Given the description of an element on the screen output the (x, y) to click on. 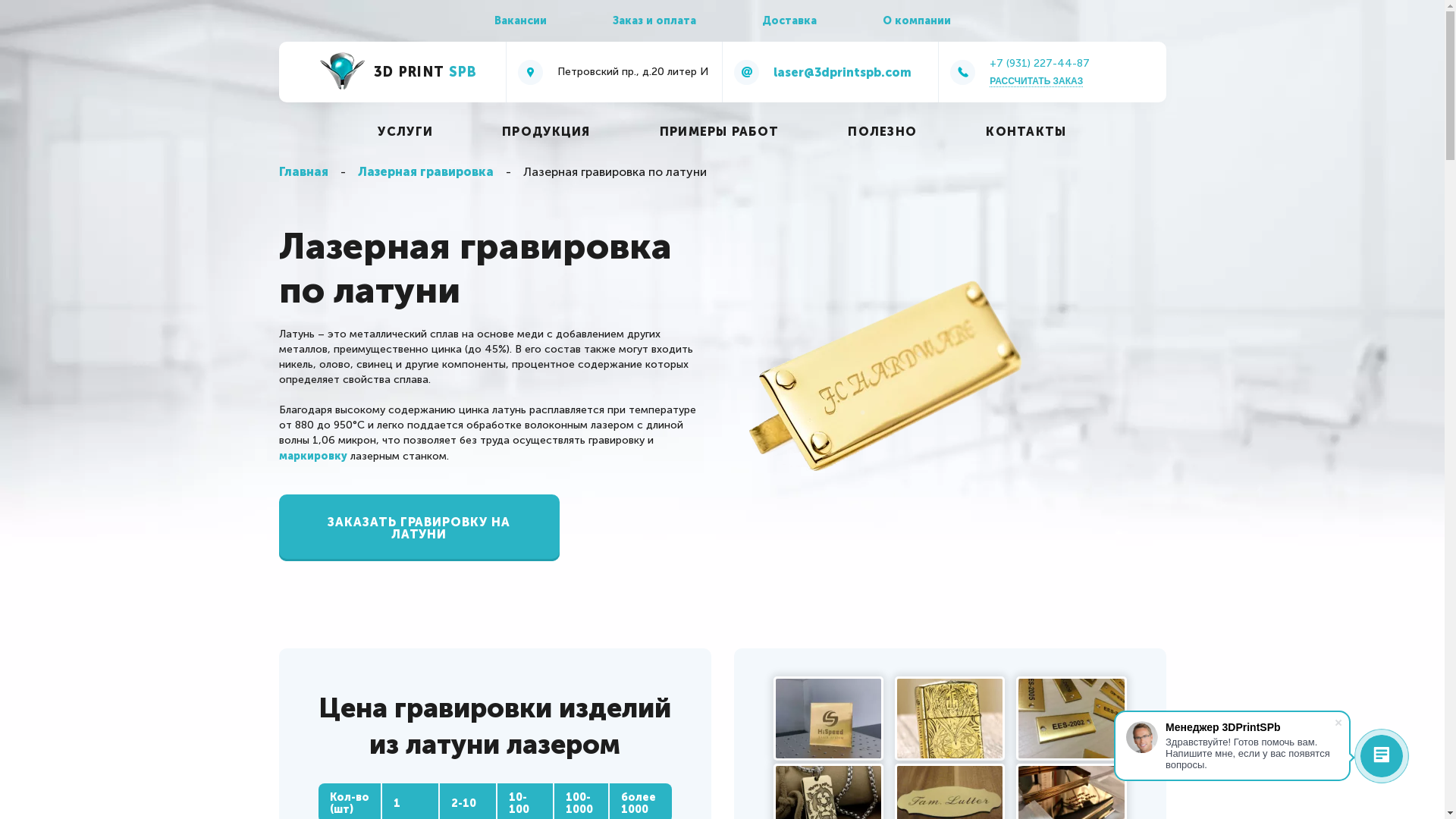
3D PRINT SPB Element type: text (397, 71)
laser@3dprintspb.com Element type: text (830, 71)
+7 (931) 227-44-87 Element type: text (1039, 63)
